Given the description of an element on the screen output the (x, y) to click on. 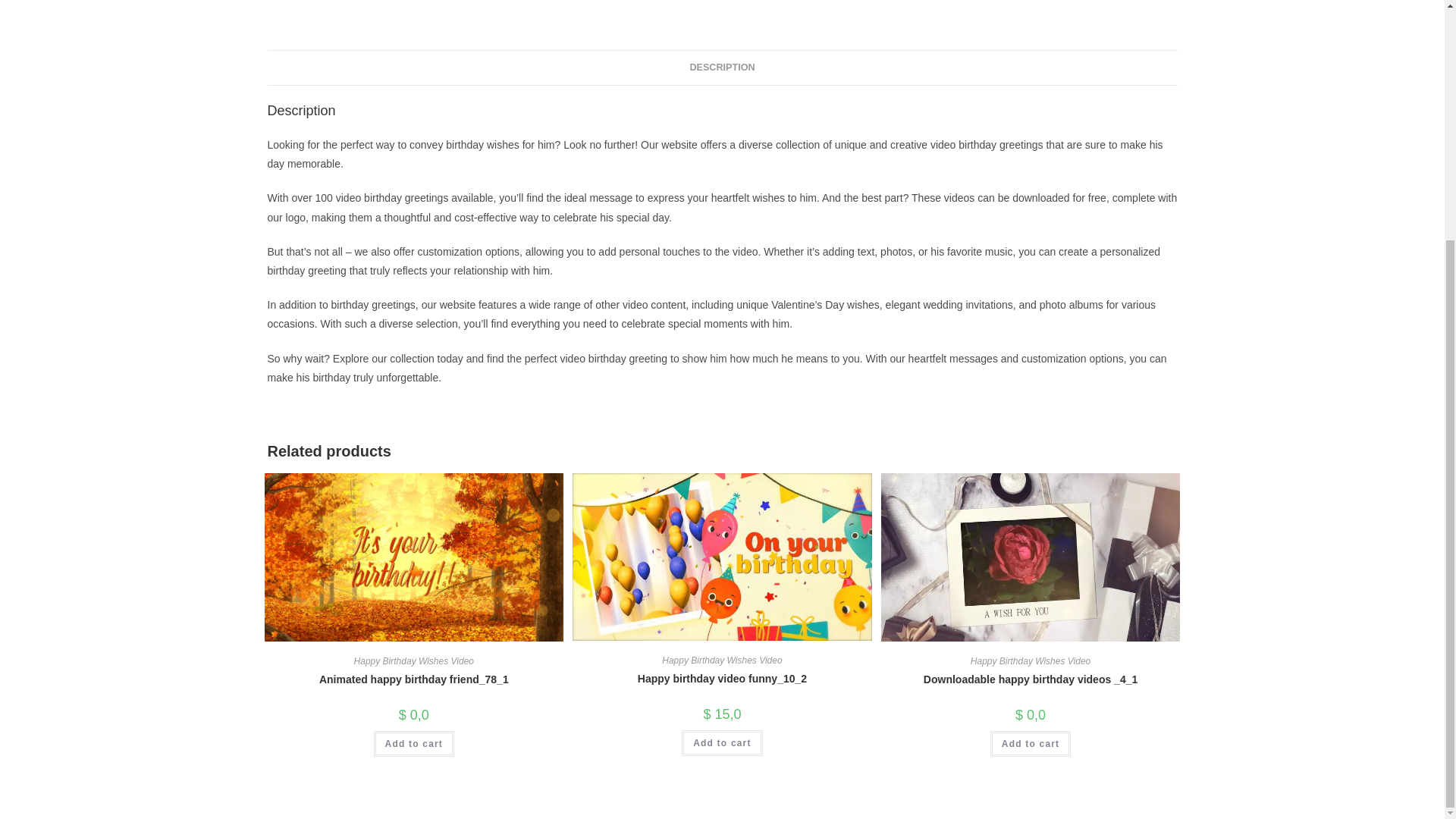
Add to cart (721, 742)
Happy Birthday Wishes Video (413, 661)
DESCRIPTION (721, 67)
Add to cart (414, 743)
Happy Birthday Wishes Video (721, 660)
